Given the description of an element on the screen output the (x, y) to click on. 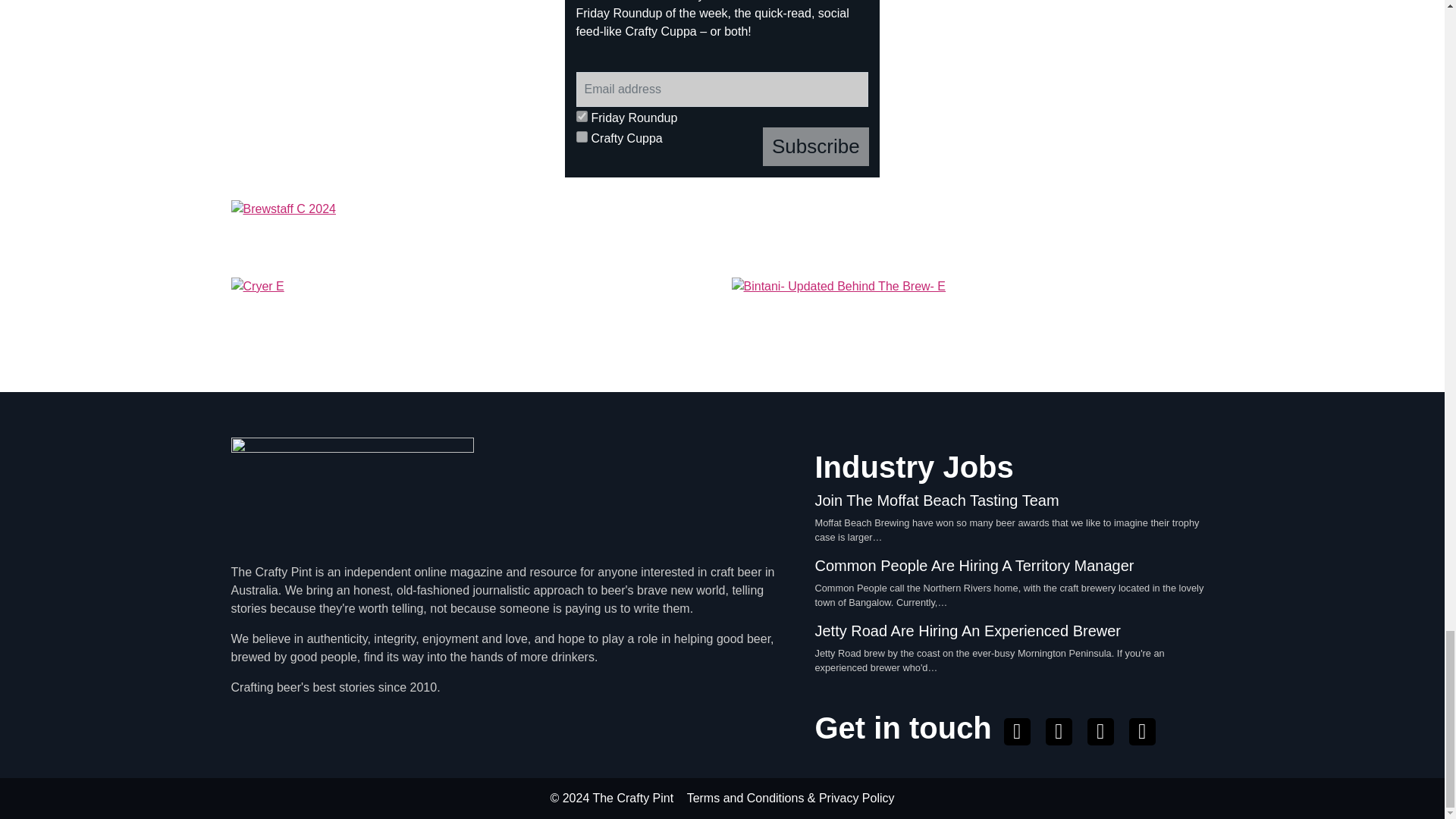
Froth Town 2024 B 2 (389, 88)
Cryer E (471, 316)
Podcast B2 (1055, 88)
Subscribe (815, 146)
cuppa (582, 136)
Brewstaff C 2024 (721, 232)
friday (582, 116)
Bintani- Updated Behind The Brew- E (971, 316)
